Given the description of an element on the screen output the (x, y) to click on. 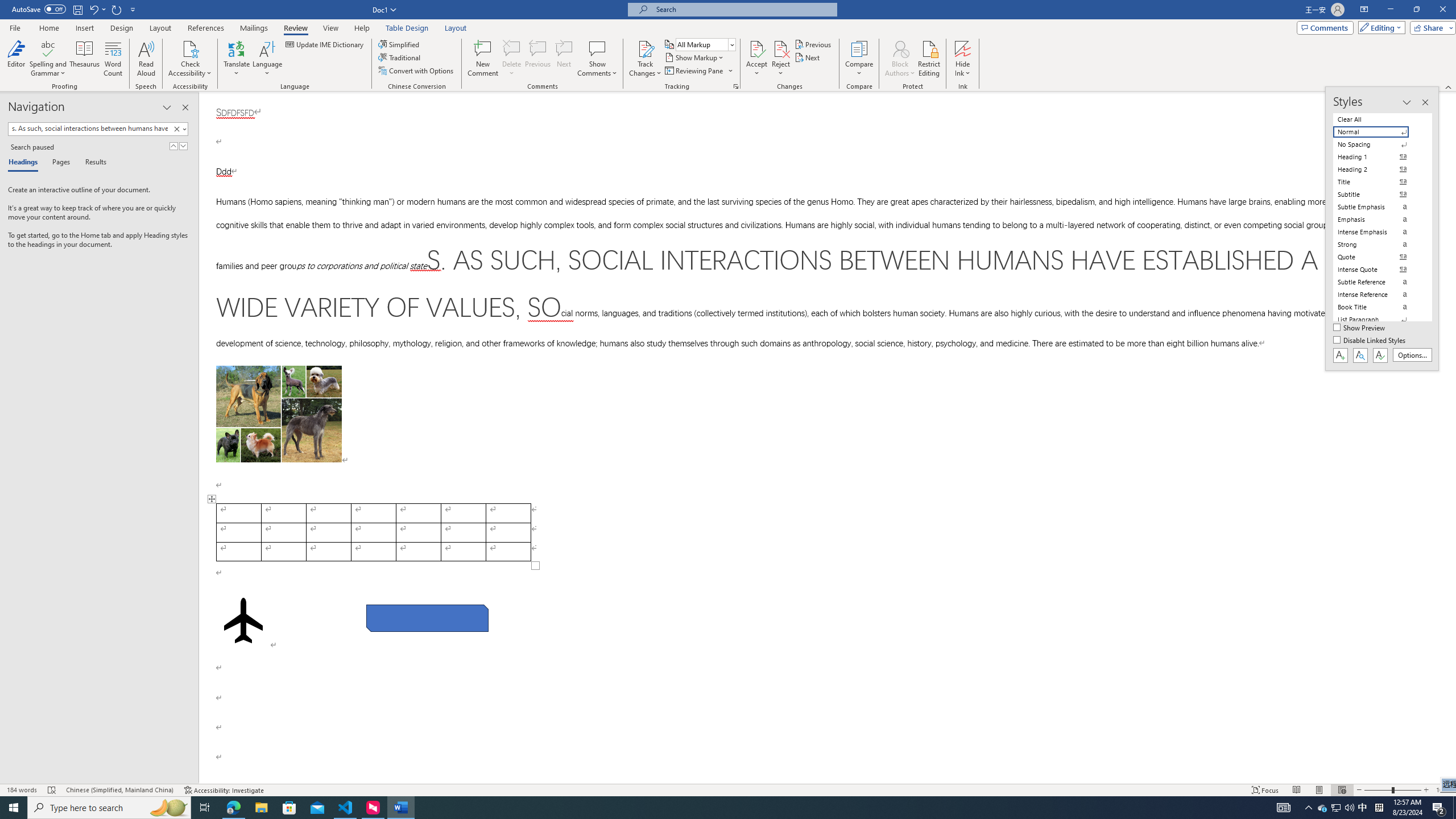
Block Authors (900, 58)
Clear All (1377, 119)
Heading 2 (1377, 169)
Spelling and Grammar (48, 48)
Reject (780, 58)
Options... (1412, 354)
Strong (1377, 244)
Class: NetUIButton (1380, 355)
Delete (511, 48)
Clear (178, 128)
Thesaurus... (84, 58)
